Given the description of an element on the screen output the (x, y) to click on. 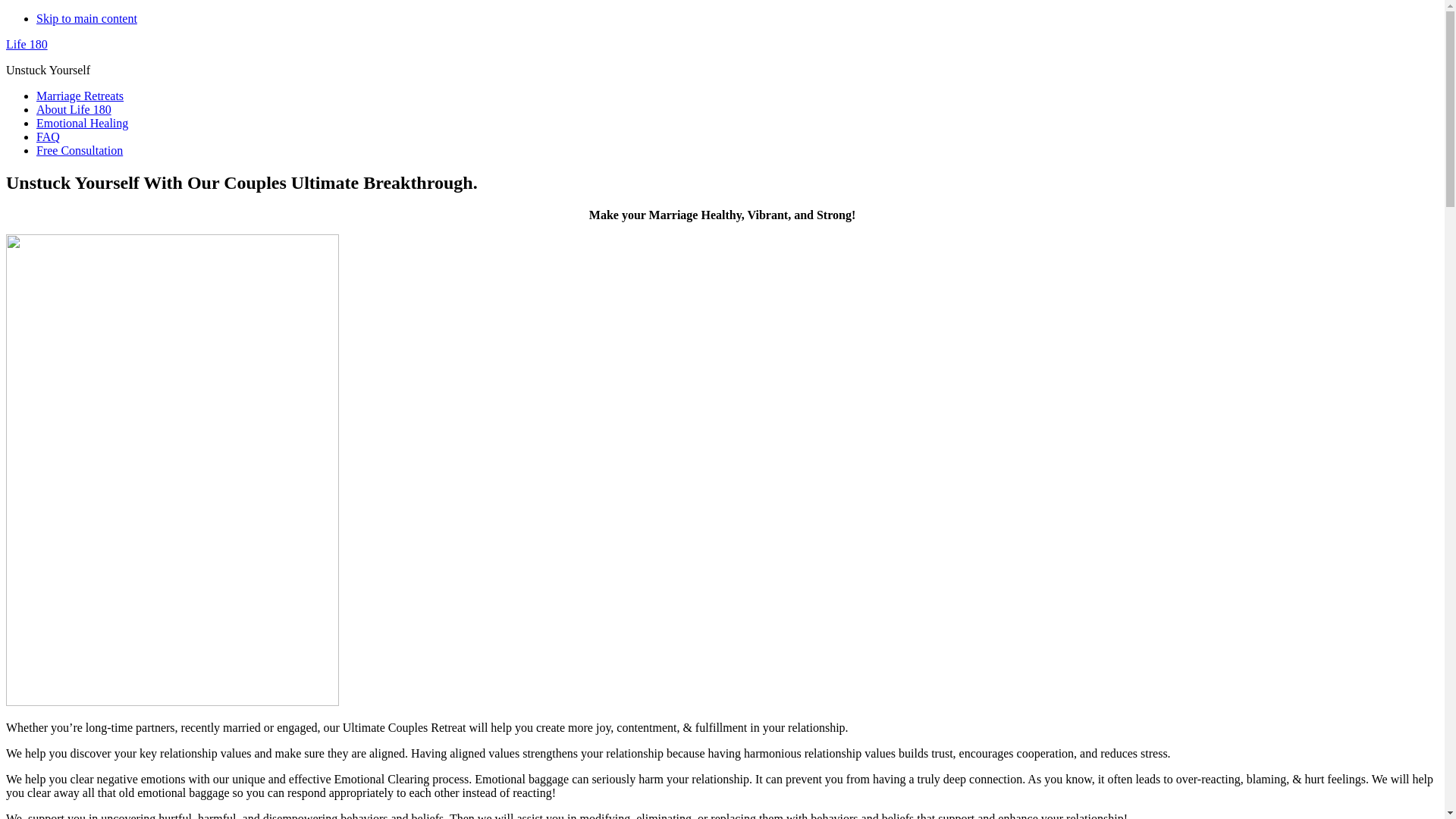
Free Consultation Element type: text (79, 150)
FAQ Element type: text (47, 136)
About Life 180 Element type: text (73, 109)
Marriage Retreats Element type: text (79, 95)
Life 180 Element type: text (26, 43)
Emotional Healing Element type: text (82, 122)
Skip to main content Element type: text (86, 18)
